Given the description of an element on the screen output the (x, y) to click on. 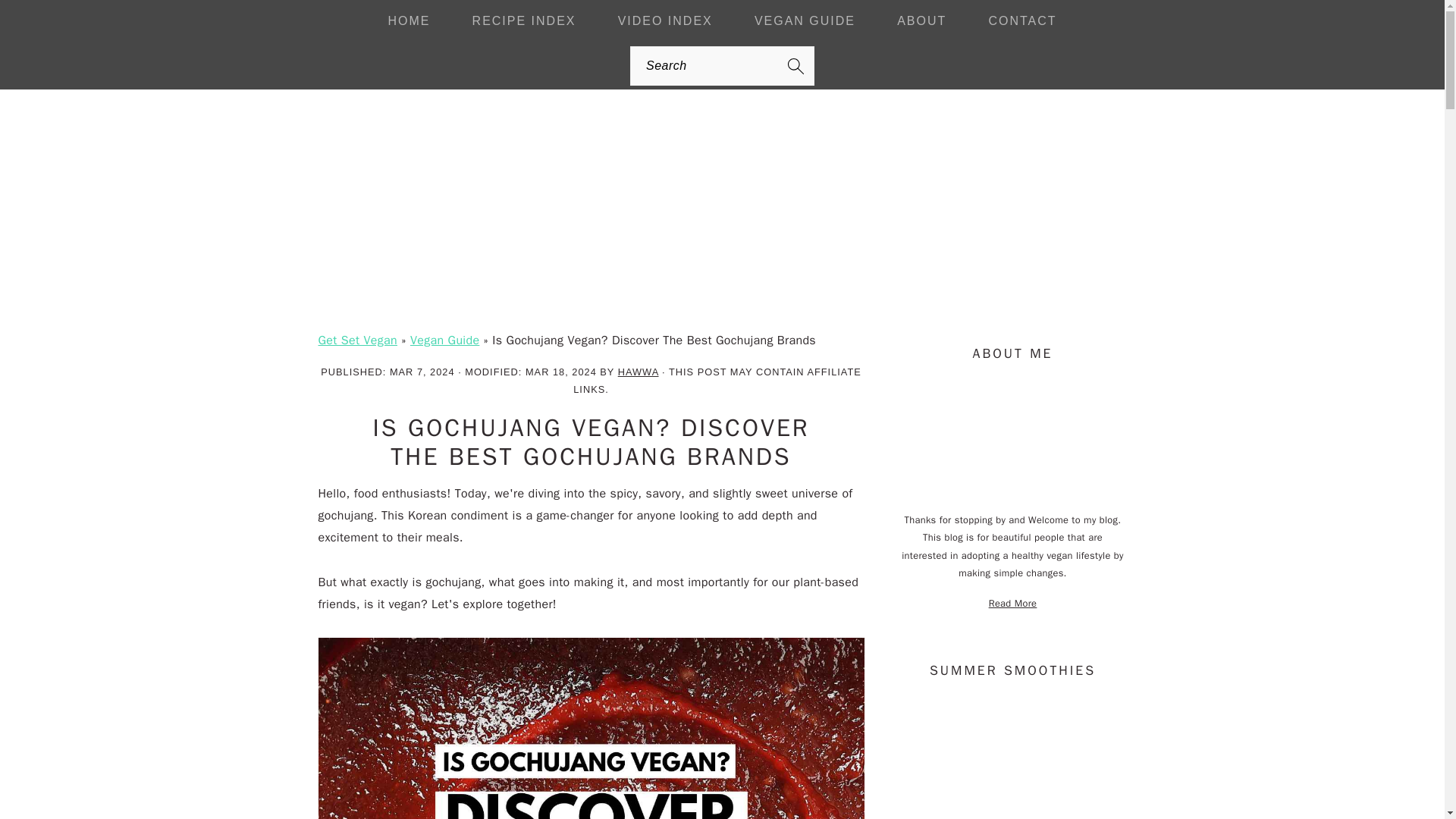
Get Set Vegan (721, 258)
HOME (408, 21)
Vegan Guide (444, 340)
HAWWA (638, 371)
Get Set Vegan (357, 340)
VEGAN GUIDE (805, 21)
Search (275, 19)
VIDEO INDEX (665, 21)
ABOUT (921, 21)
